Given the description of an element on the screen output the (x, y) to click on. 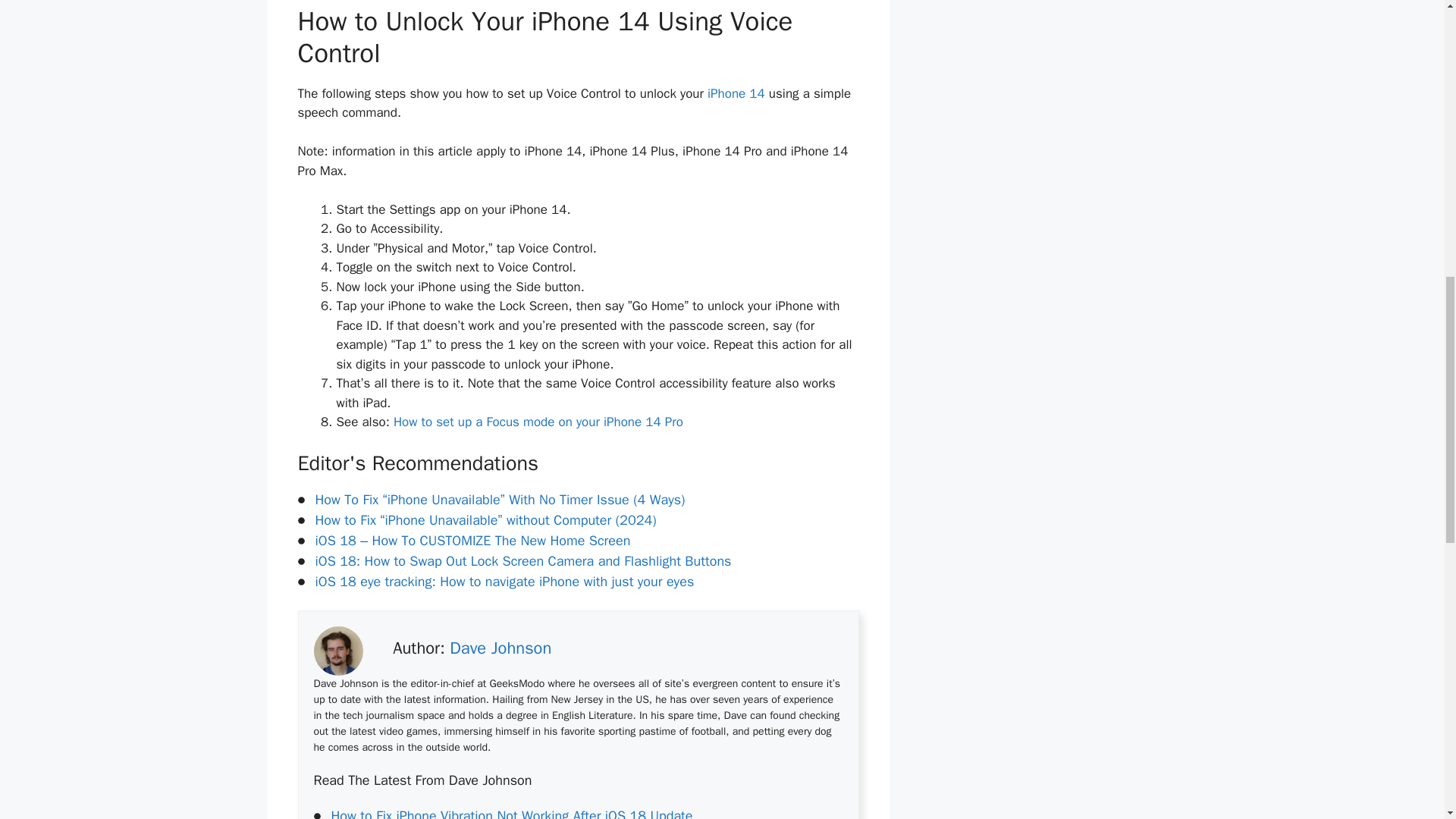
How to Fix iPhone Vibration Not Working After iOS 18 Update (511, 813)
Dave Johnson (500, 648)
Scroll back to top (1406, 720)
How to set up a Focus mode on your iPhone 14 Pro (537, 421)
